Given the description of an element on the screen output the (x, y) to click on. 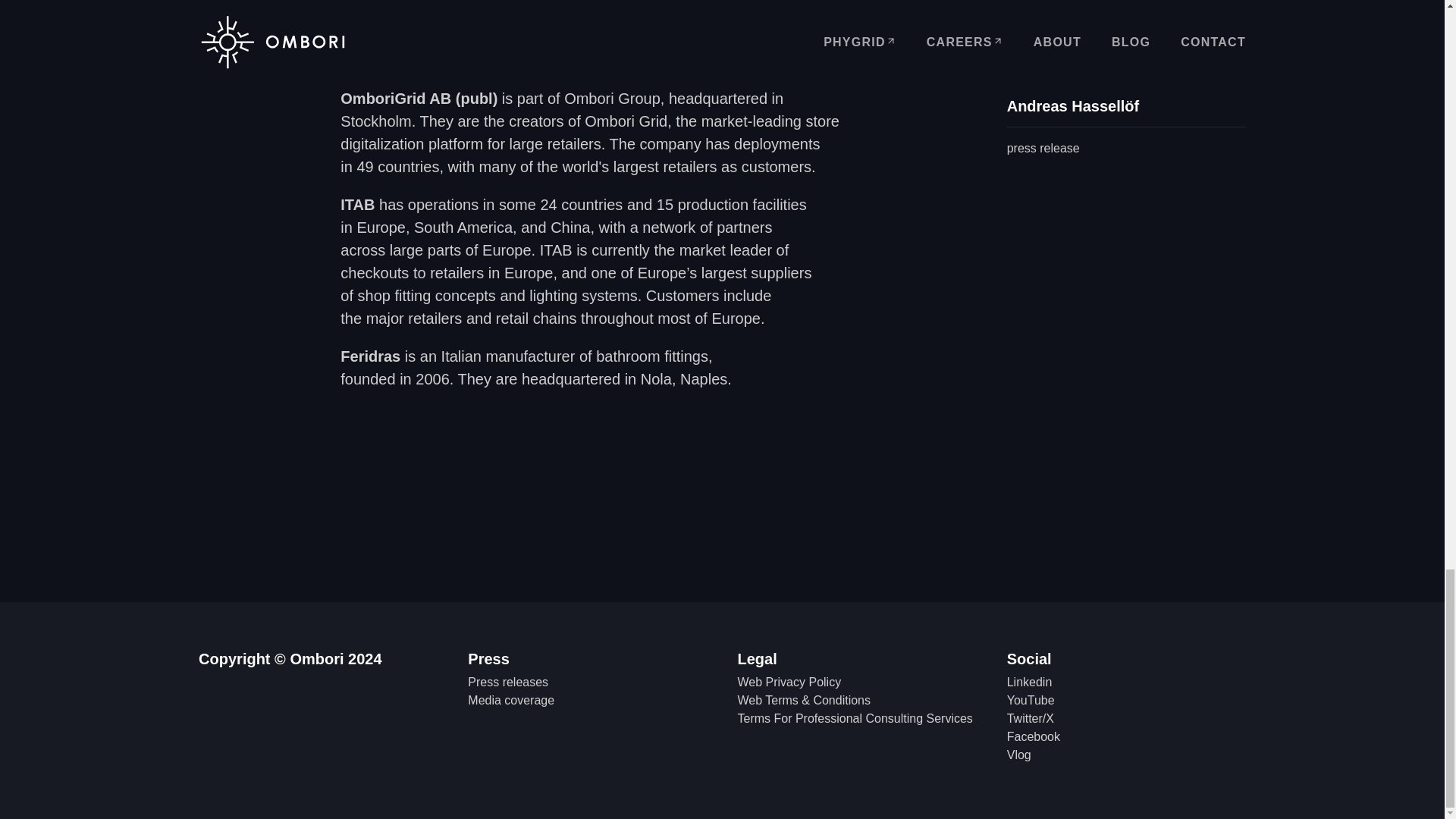
Press releases (507, 681)
Terms For Professional Consulting Services (854, 717)
YouTube (1030, 699)
Linkedin (1029, 681)
Facebook (1033, 736)
Media coverage (510, 699)
Web Privacy Policy (788, 681)
Vlog (1018, 754)
